Given the description of an element on the screen output the (x, y) to click on. 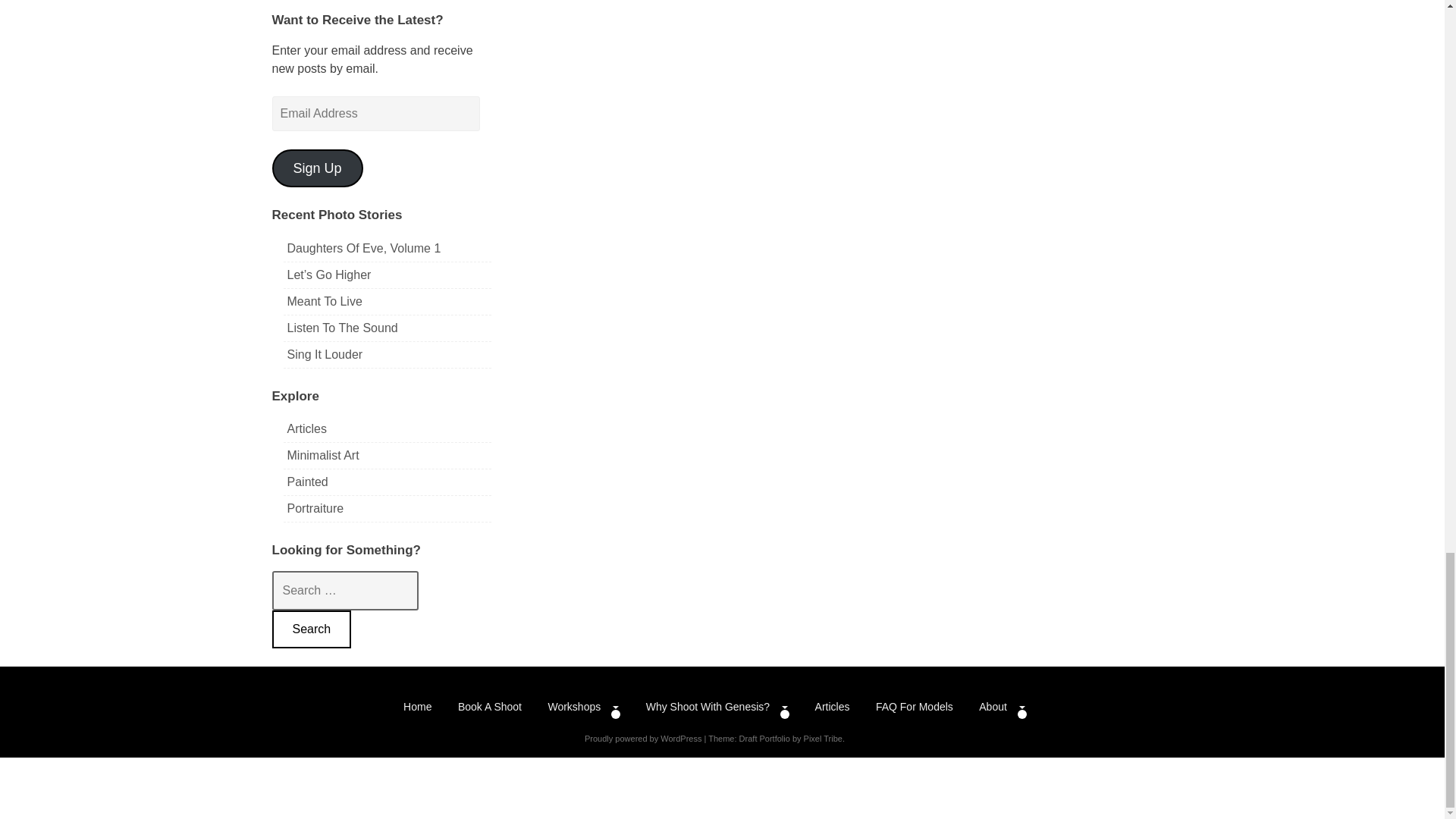
Search (310, 629)
Search (310, 629)
